Given the description of an element on the screen output the (x, y) to click on. 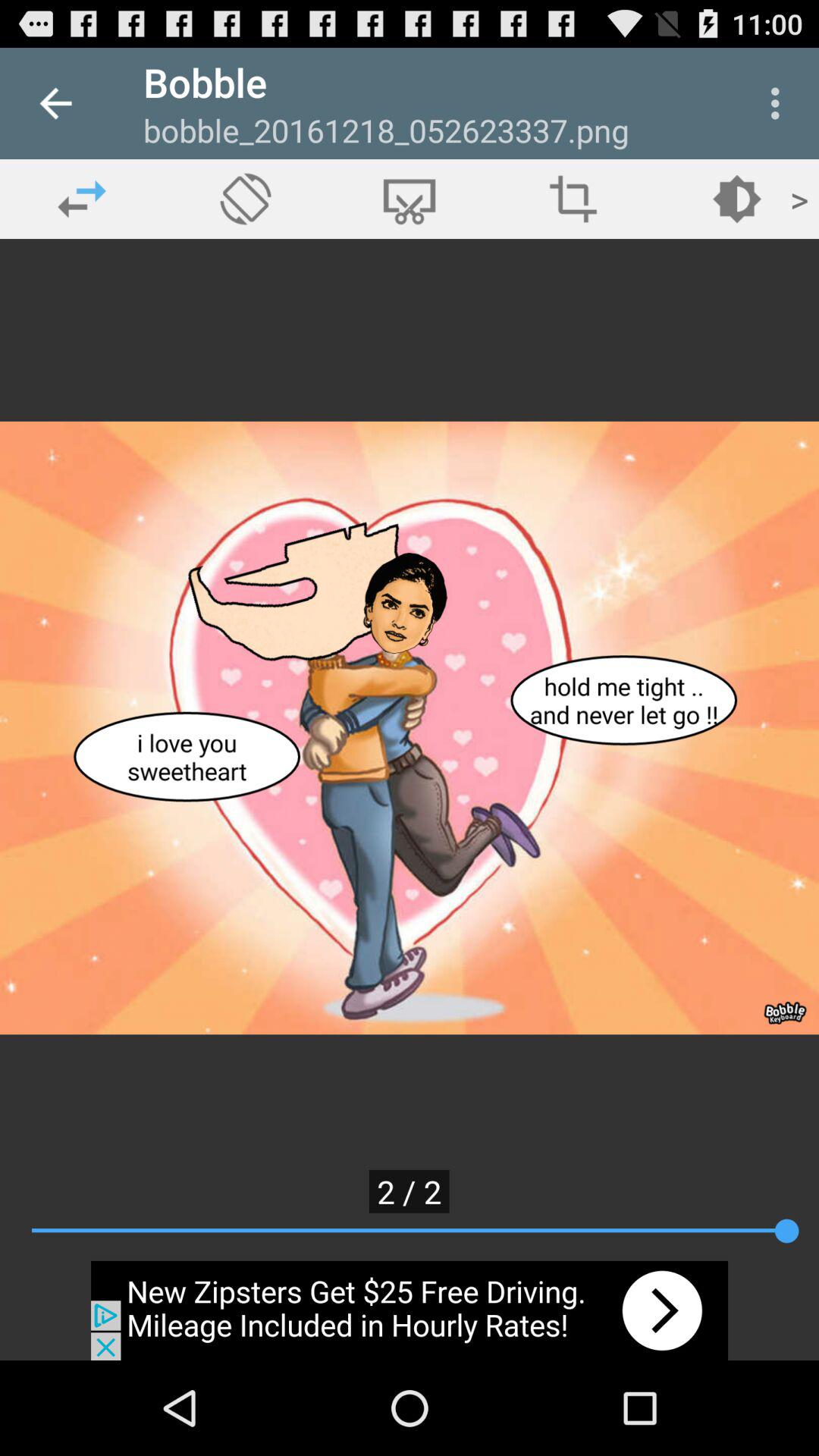
open advertisement (409, 1310)
